Given the description of an element on the screen output the (x, y) to click on. 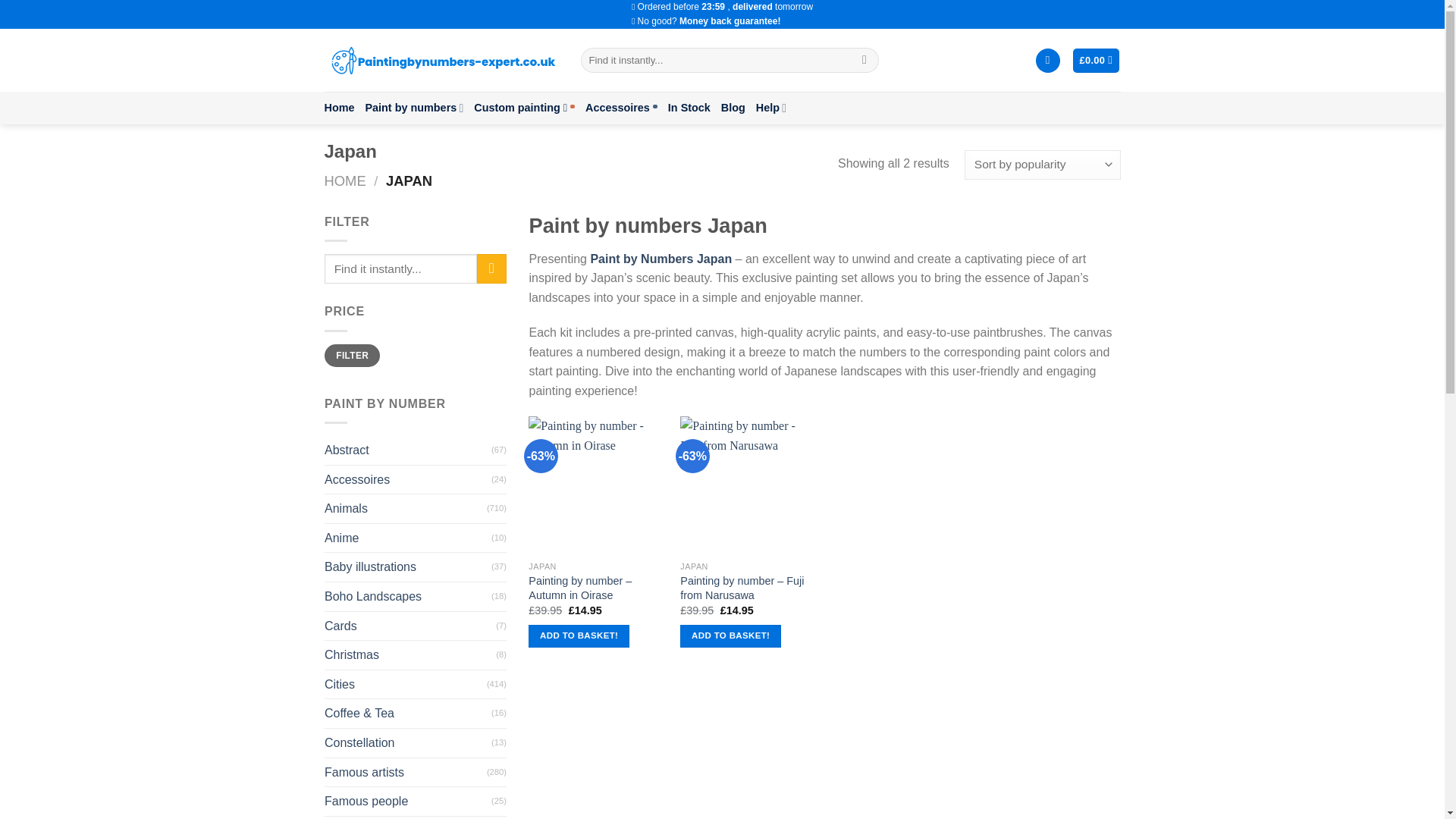
Accessoires (621, 107)
Search (864, 60)
Basket (1096, 60)
Paint by numbers (414, 107)
HOME (345, 180)
In Stock (689, 107)
Help (770, 107)
Blog (732, 107)
Home (339, 107)
